Given the description of an element on the screen output the (x, y) to click on. 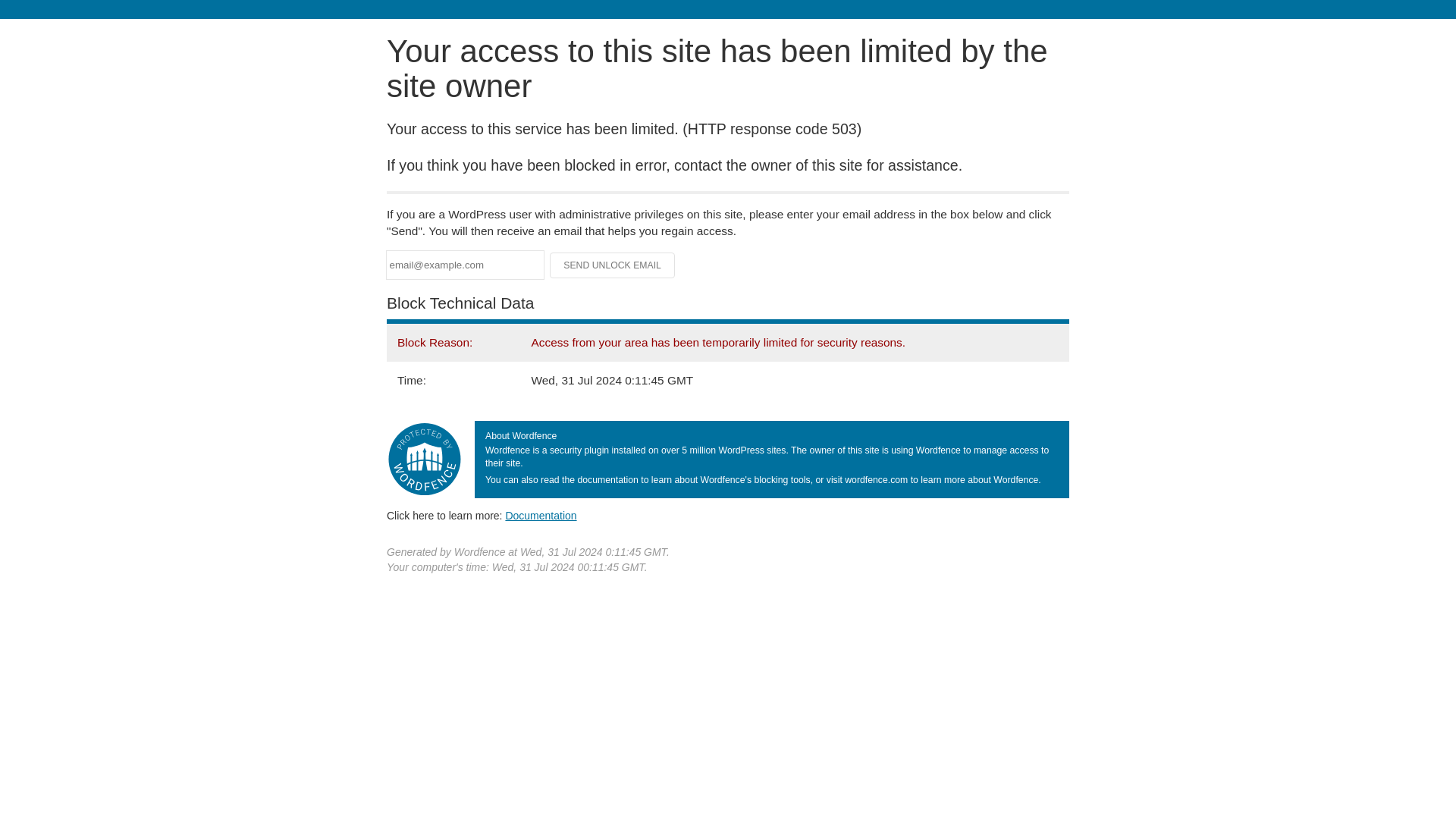
Send Unlock Email (612, 265)
Documentation (540, 515)
Send Unlock Email (612, 265)
